Given the description of an element on the screen output the (x, y) to click on. 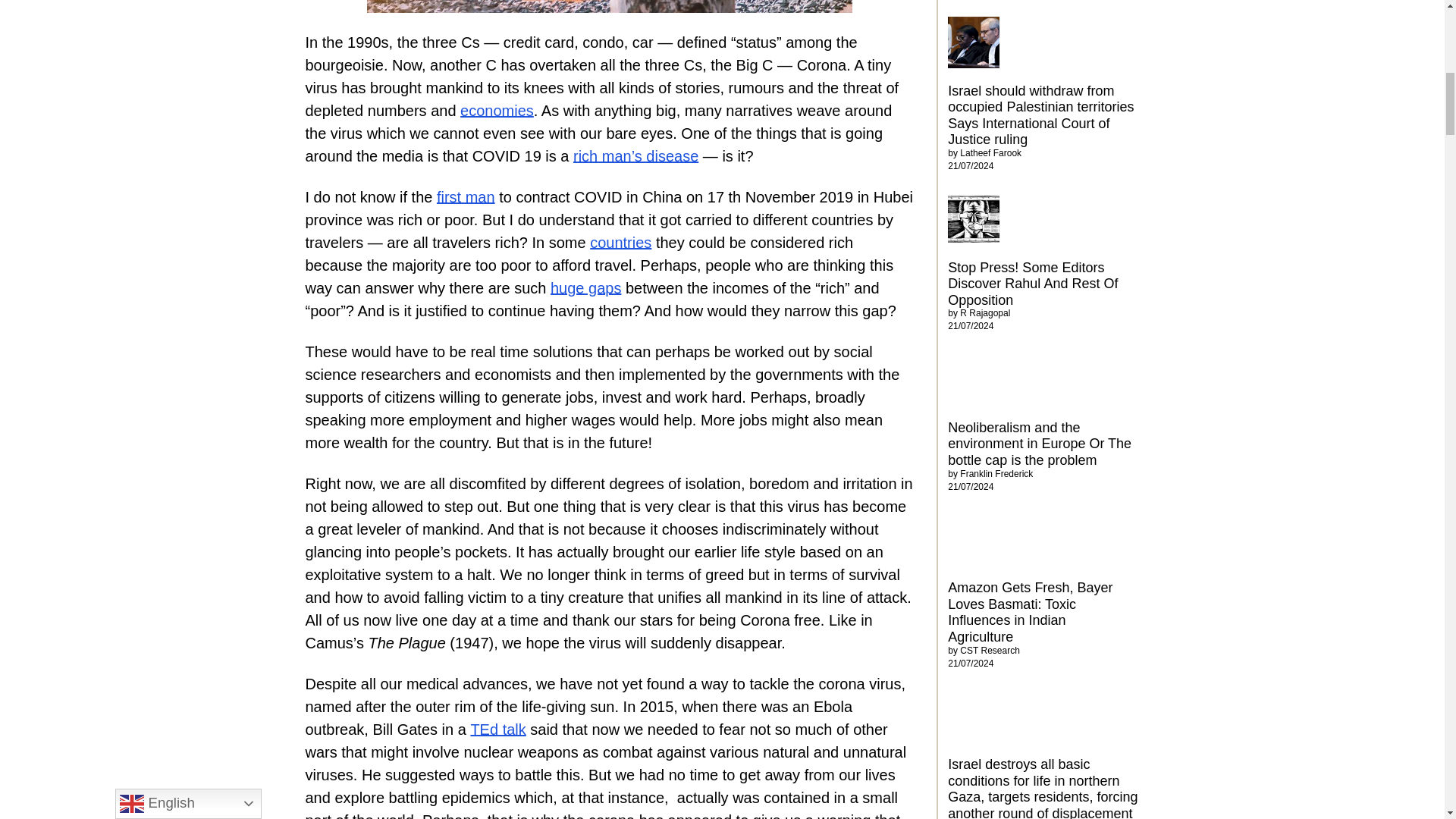
The Big C 2 (608, 6)
